Given the description of an element on the screen output the (x, y) to click on. 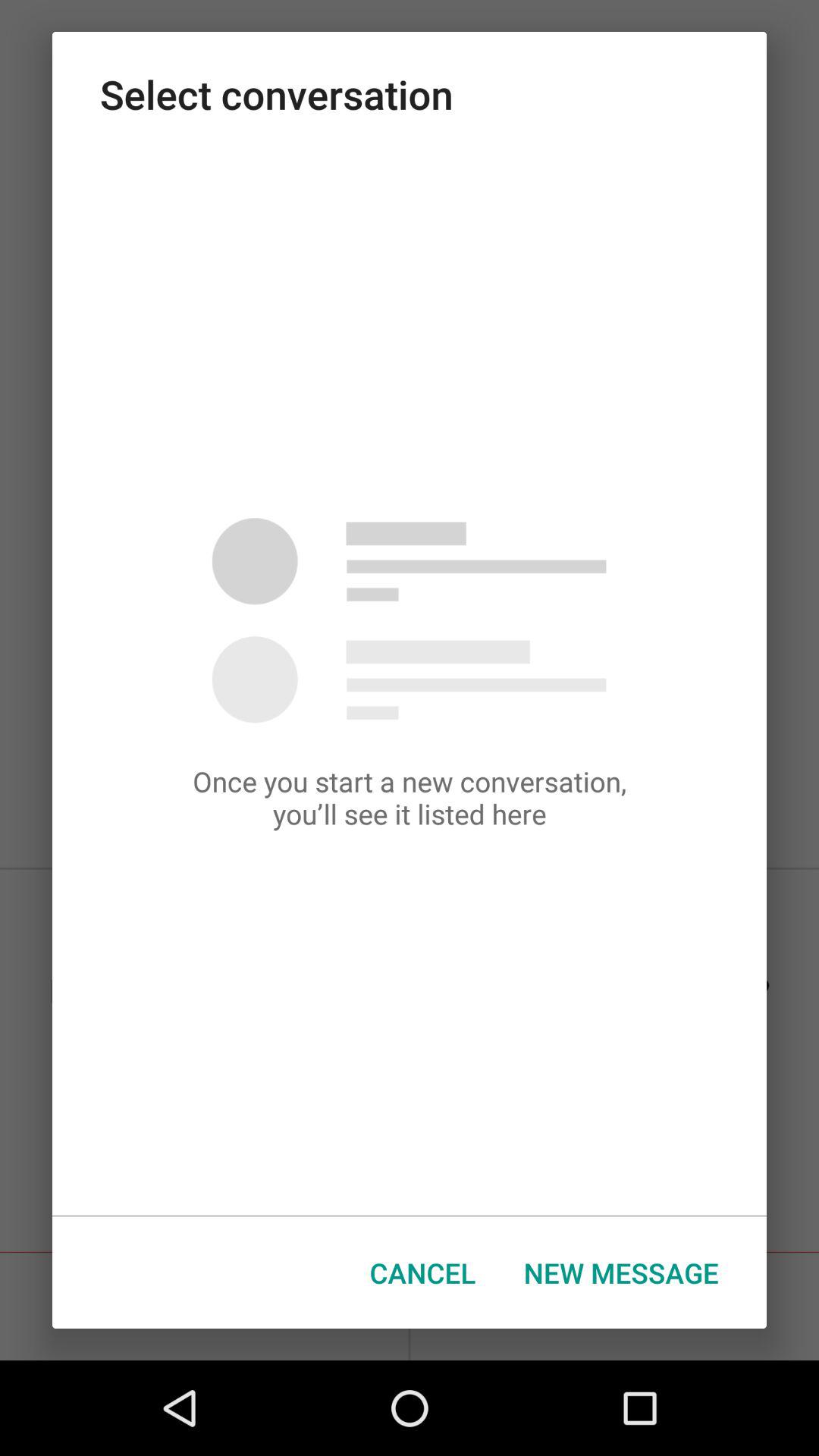
press item next to the new message item (422, 1272)
